Given the description of an element on the screen output the (x, y) to click on. 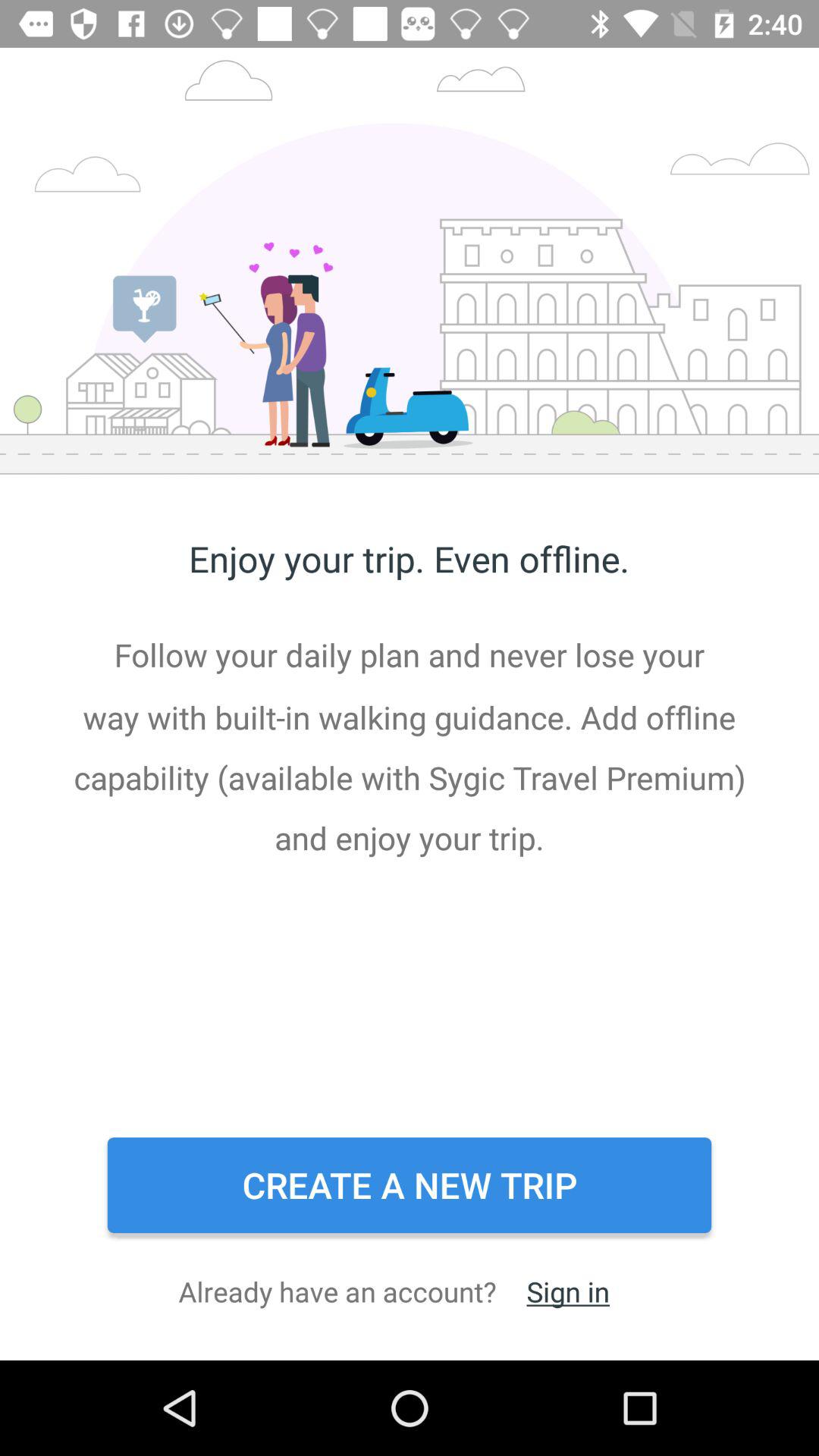
scroll to the create a new (409, 1185)
